Given the description of an element on the screen output the (x, y) to click on. 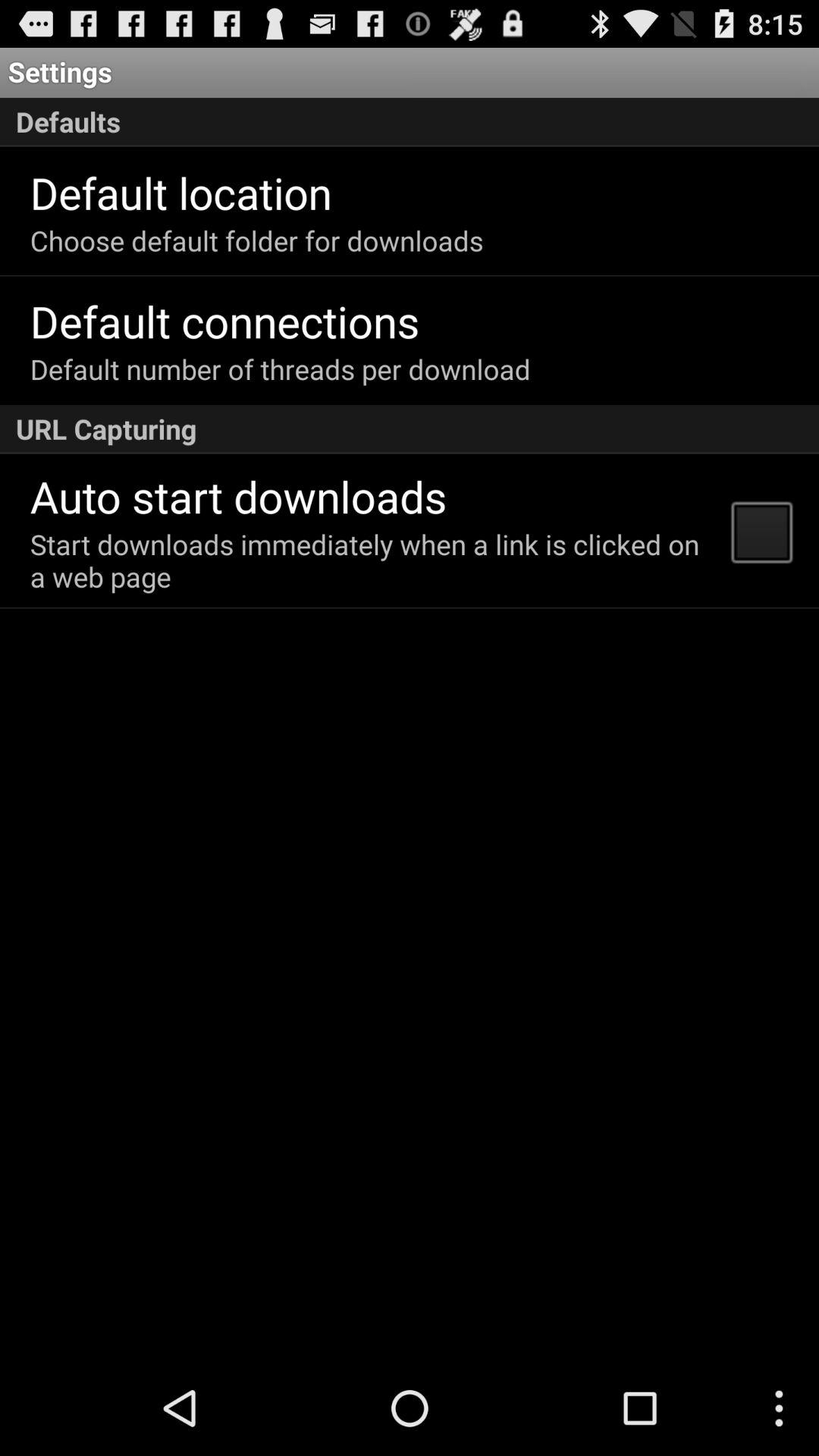
tap the app below url capturing item (761, 530)
